Given the description of an element on the screen output the (x, y) to click on. 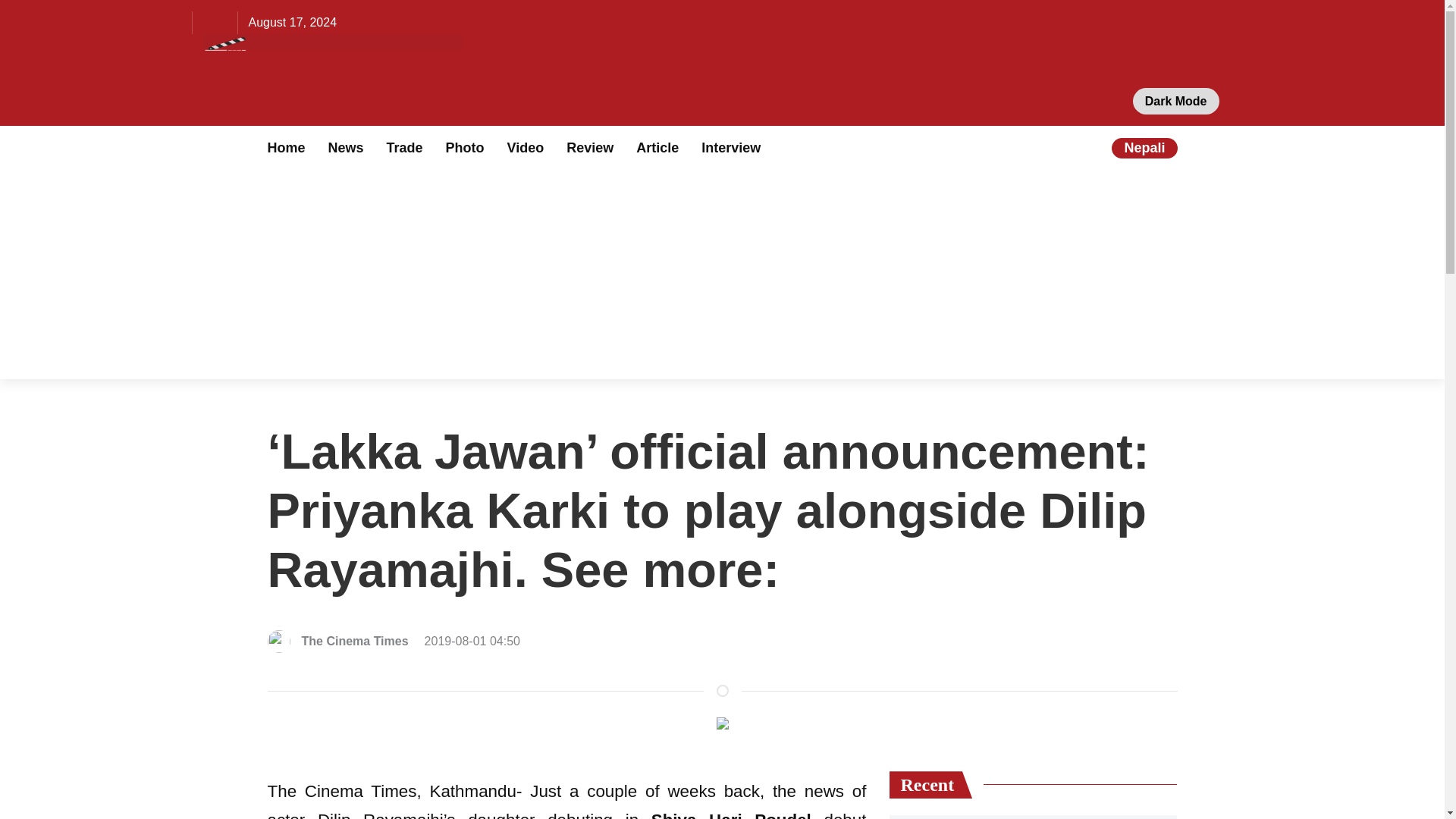
Dark Mode (1176, 100)
Recent (930, 784)
Dark Mode (1175, 100)
Article (657, 147)
Nepali (1144, 147)
August 17, 2024 (292, 22)
Interview (730, 147)
Review (589, 147)
